Given the description of an element on the screen output the (x, y) to click on. 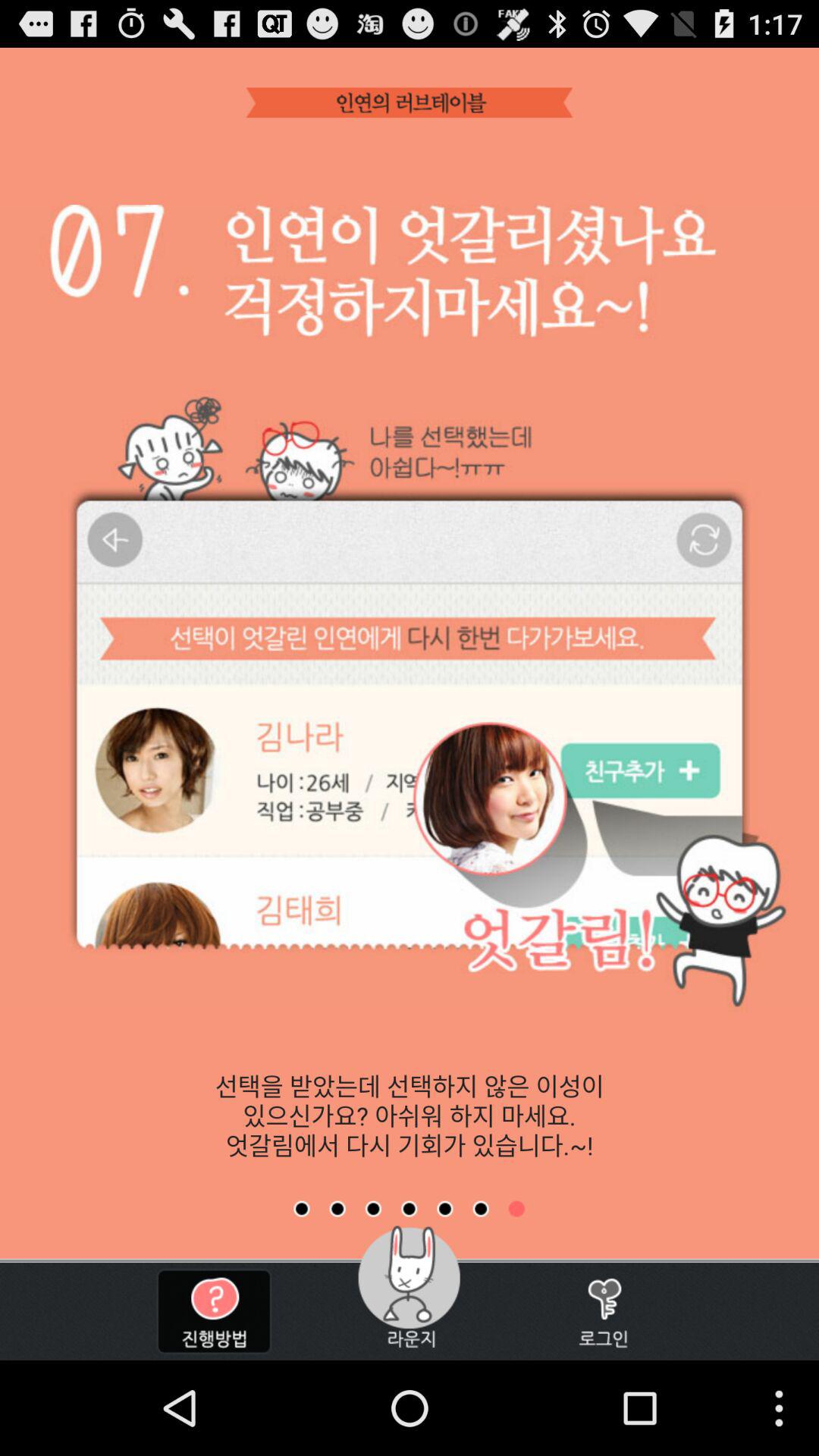
go to next page (337, 1208)
